Given the description of an element on the screen output the (x, y) to click on. 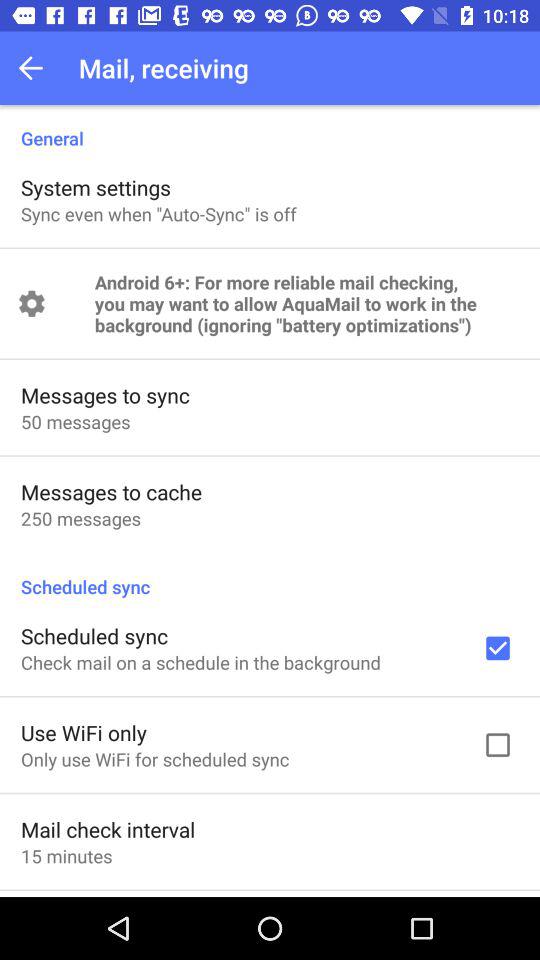
press the item to the left of mail, receiving item (36, 68)
